Given the description of an element on the screen output the (x, y) to click on. 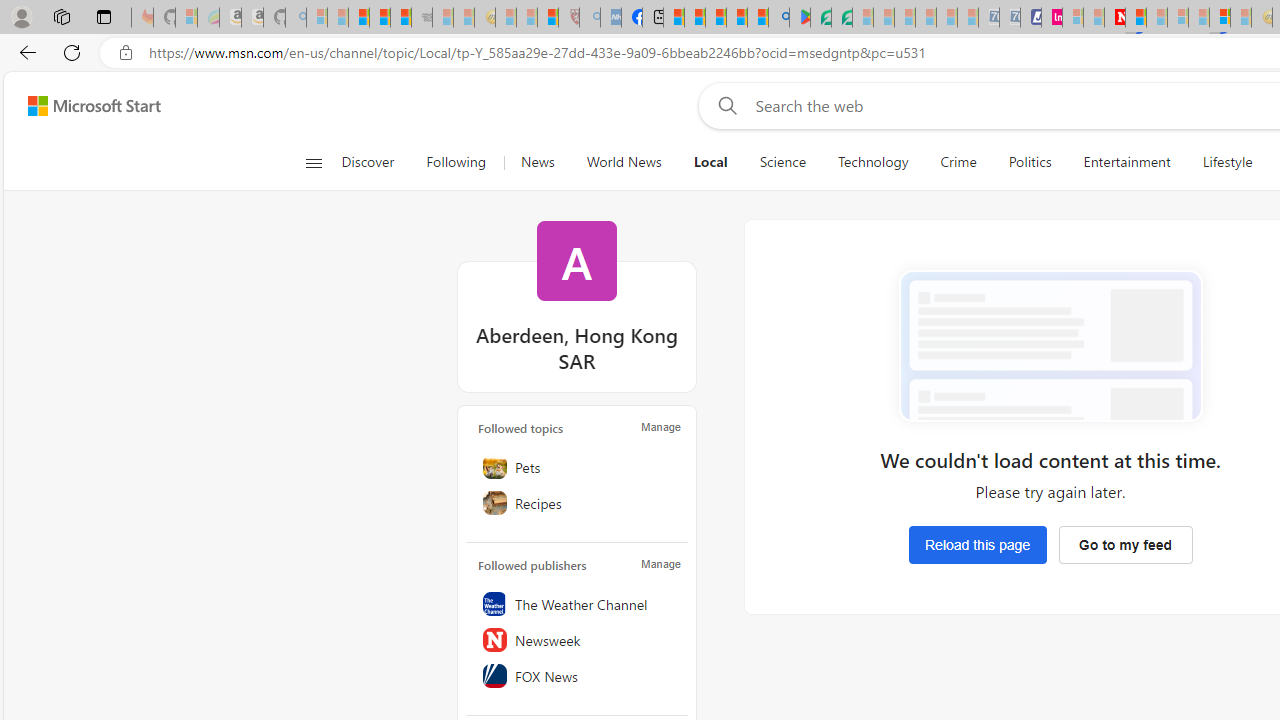
Latest Politics News & Archive | Newsweek.com (1114, 17)
Local (710, 162)
Terms of Use Agreement (820, 17)
Politics (1029, 162)
Local - MSN (547, 17)
FOX News (577, 675)
World News (623, 162)
Reload this page (977, 544)
